Given the description of an element on the screen output the (x, y) to click on. 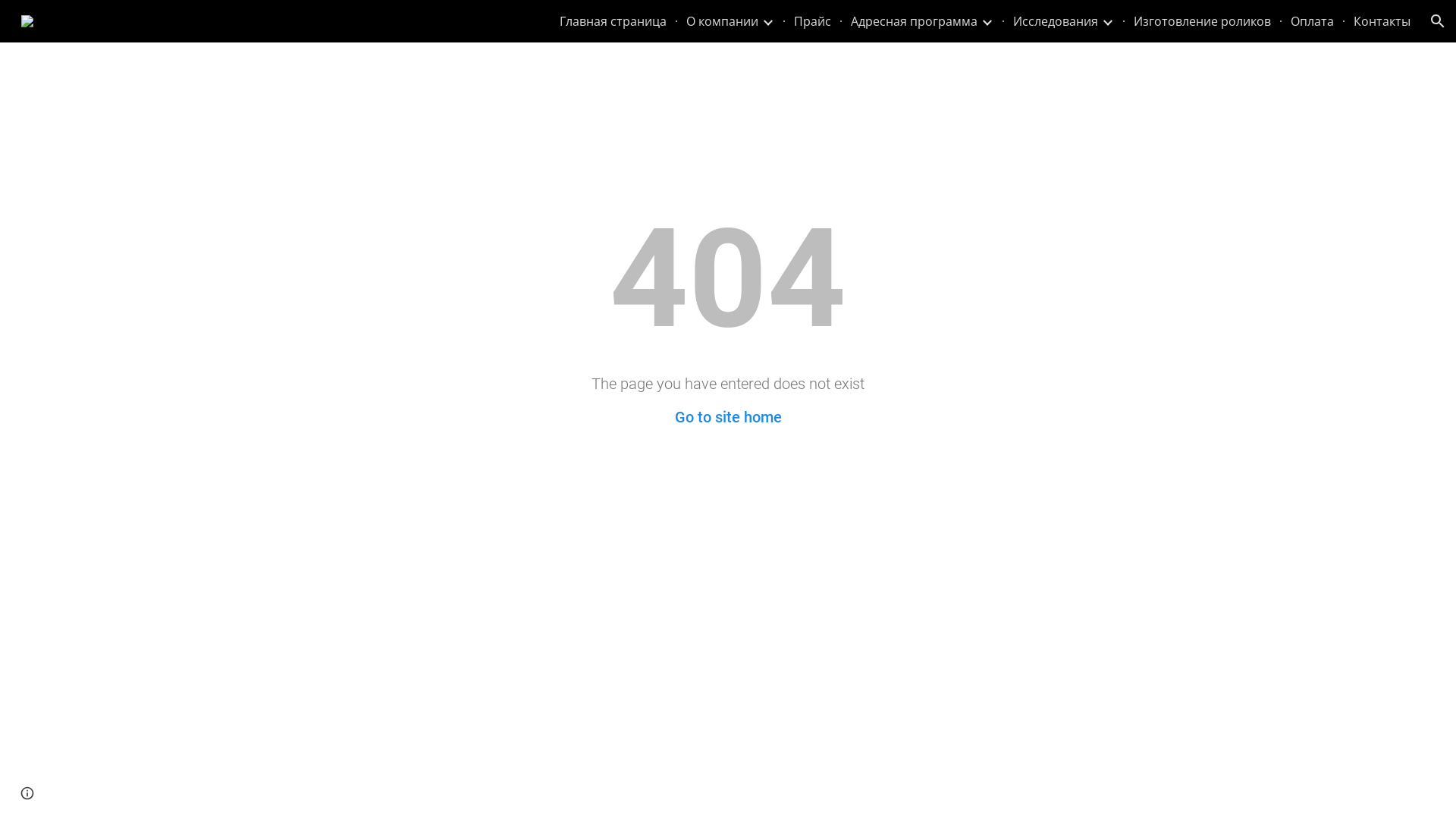
Expand/Collapse Element type: hover (767, 20)
Expand/Collapse Element type: hover (986, 20)
Expand/Collapse Element type: hover (1106, 20)
Go to site home Element type: text (727, 416)
